Given the description of an element on the screen output the (x, y) to click on. 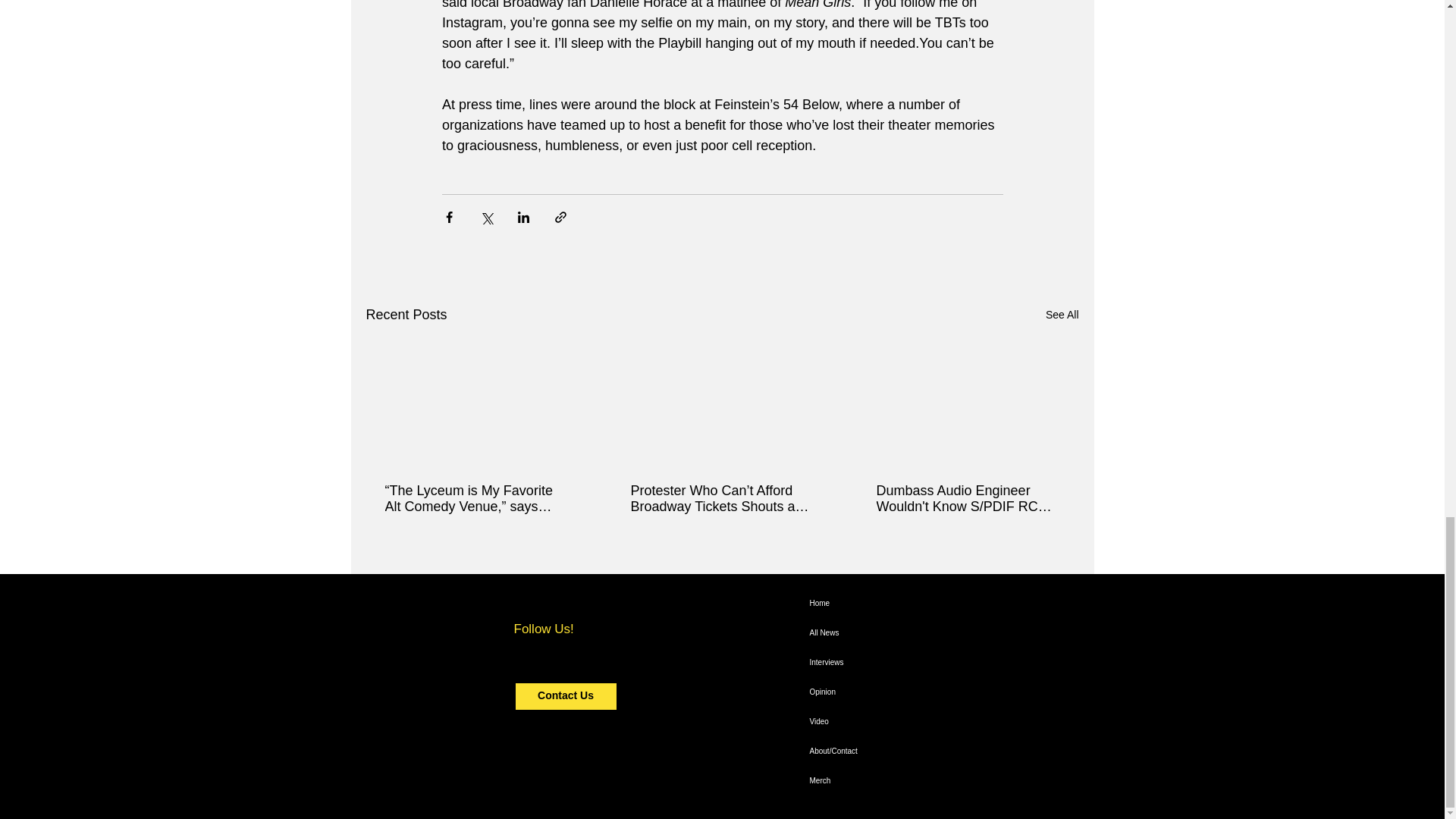
Contact Us (565, 695)
See All (1061, 314)
All News (902, 632)
Home (902, 603)
Interviews (902, 662)
Opinion (902, 690)
Merch (902, 780)
Video (902, 721)
